Given the description of an element on the screen output the (x, y) to click on. 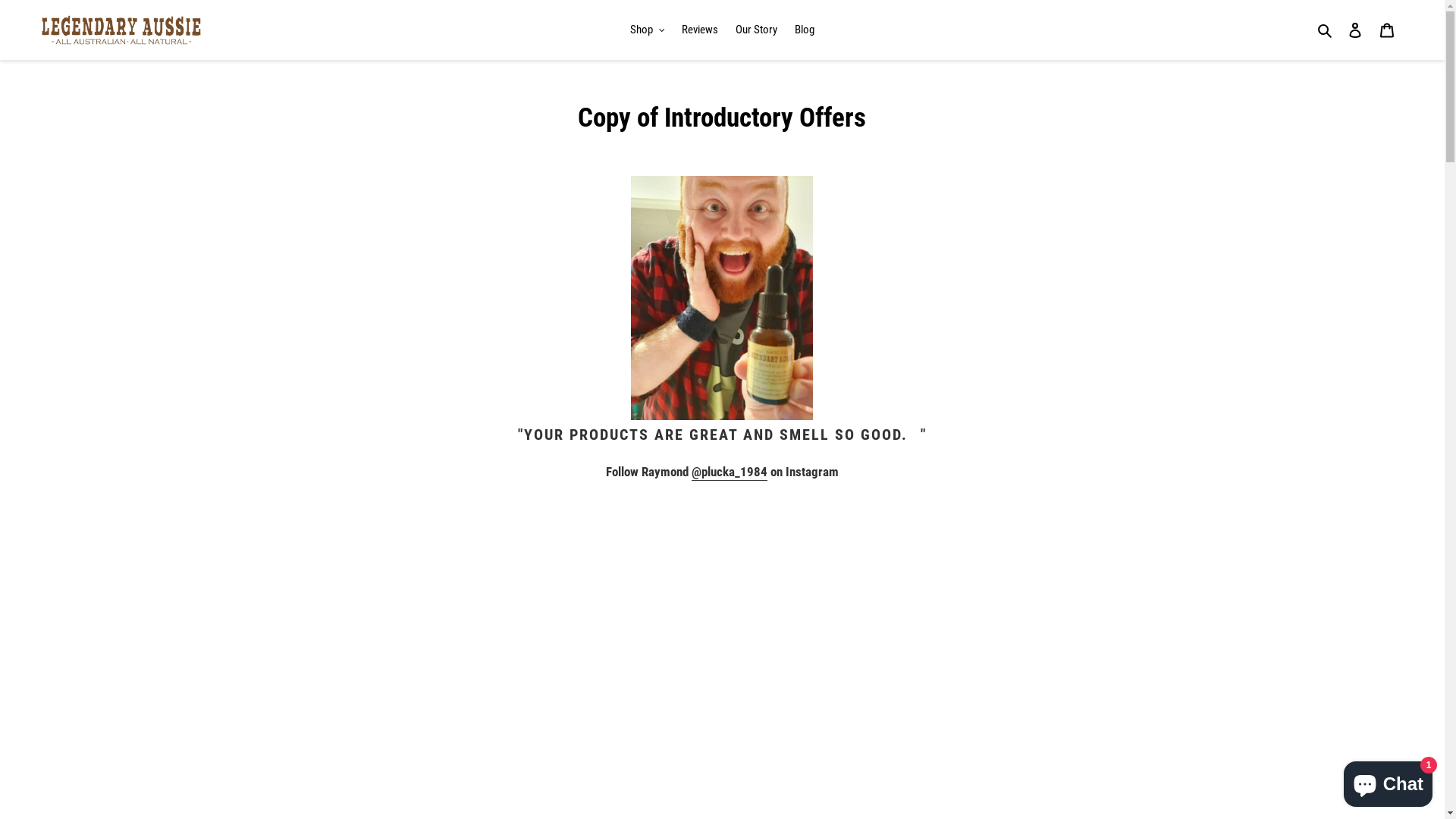
Search Element type: text (1325, 29)
Blog Element type: text (804, 29)
Reviews Element type: text (699, 29)
Cart Element type: text (1386, 29)
Shopify online store chat Element type: hover (1388, 780)
@plucka_1984 Element type: text (729, 472)
Our Story Element type: text (756, 29)
Shop Element type: text (647, 29)
Log in Element type: text (1355, 29)
